Given the description of an element on the screen output the (x, y) to click on. 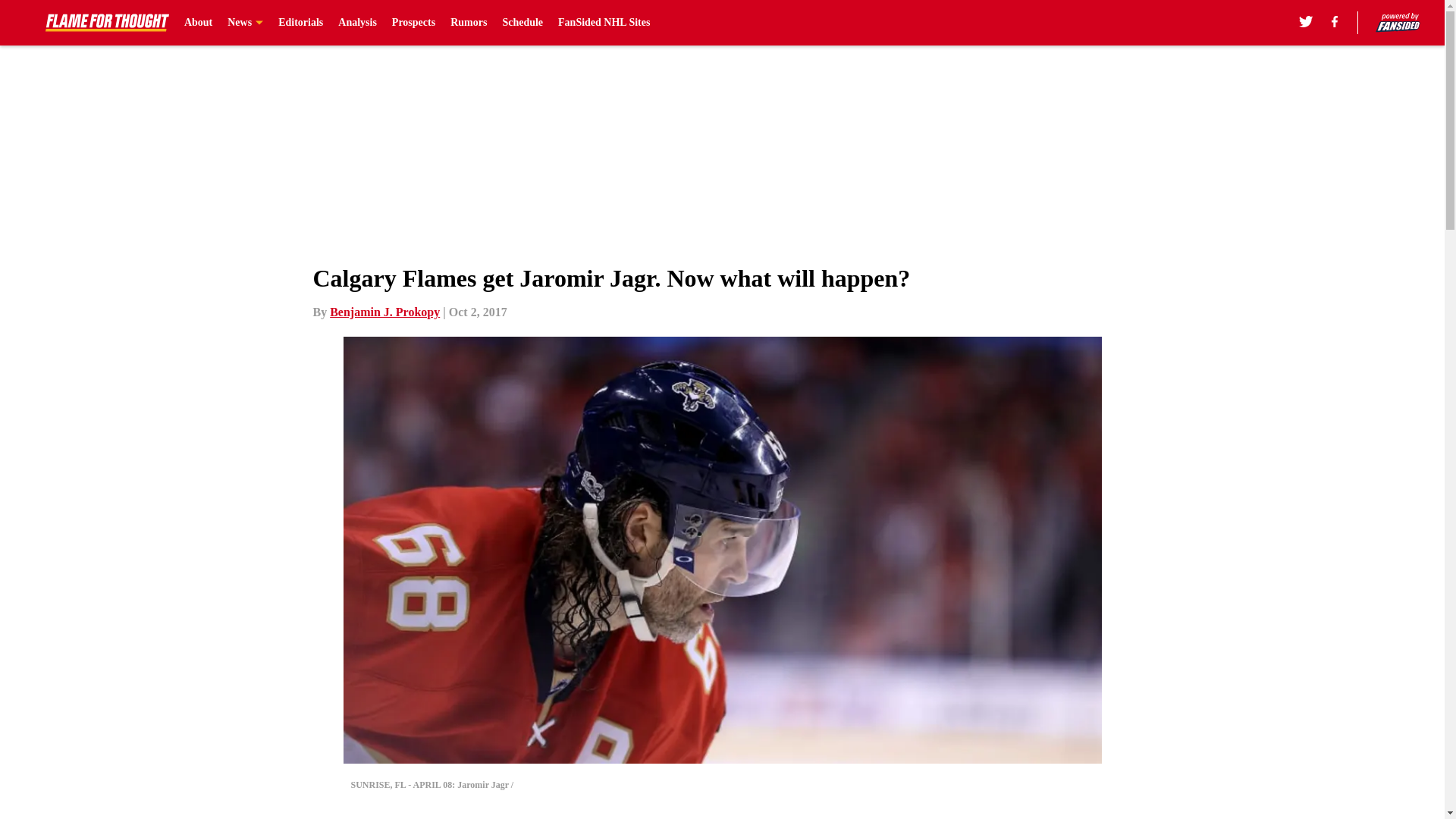
FanSided NHL Sites (603, 22)
Prospects (413, 22)
Analysis (357, 22)
Schedule (522, 22)
Rumors (467, 22)
About (198, 22)
Editorials (300, 22)
Benjamin J. Prokopy (384, 311)
